Given the description of an element on the screen output the (x, y) to click on. 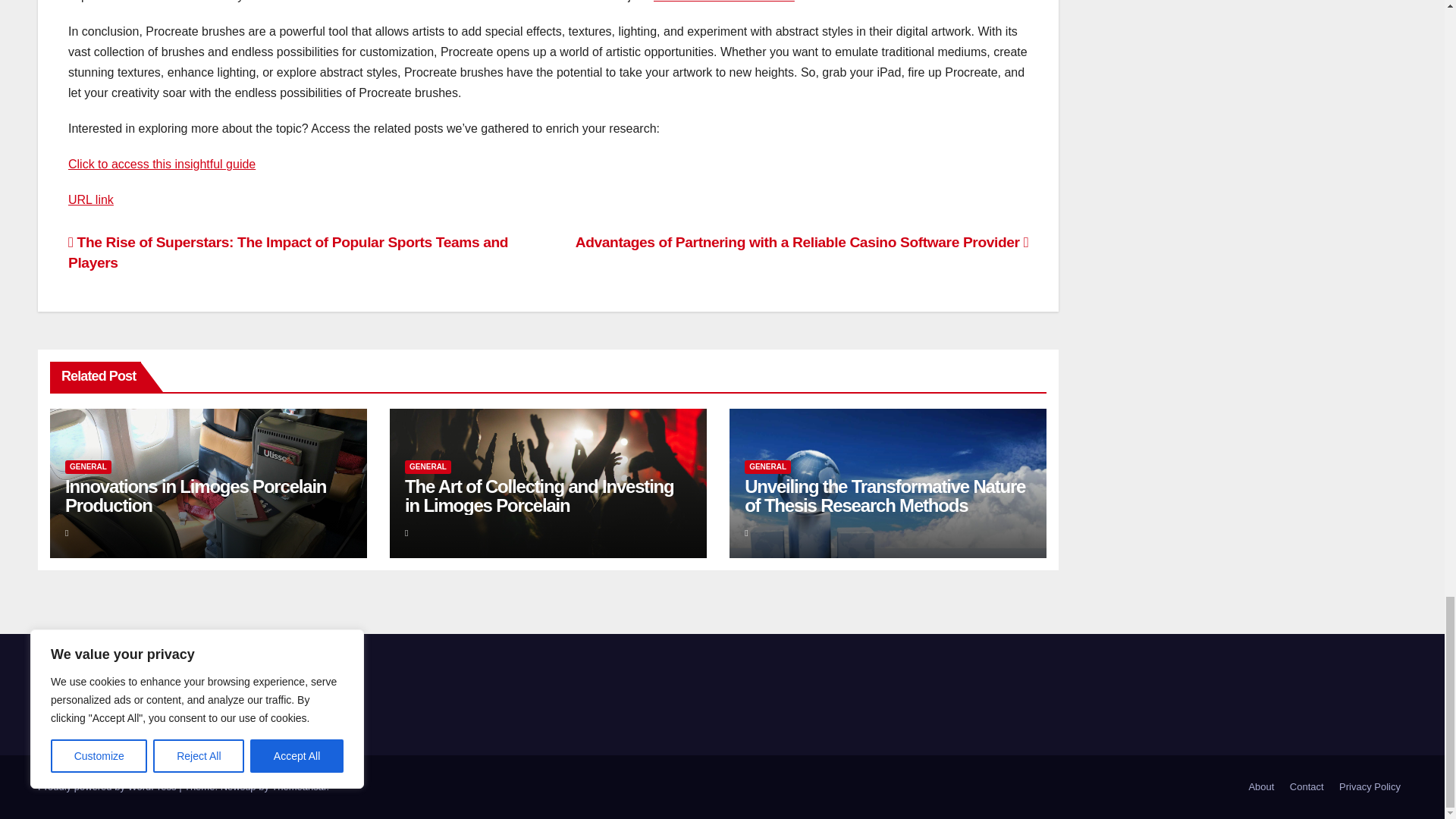
GENERAL (88, 467)
Contact (1307, 786)
Click to access this insightful guide (162, 164)
GENERAL (427, 467)
Privacy Policy (1369, 786)
GENERAL (767, 467)
Permalink to: Innovations in Limoges Porcelain Production (195, 495)
URL link (90, 199)
free brushes for Procreate (723, 1)
